Given the description of an element on the screen output the (x, y) to click on. 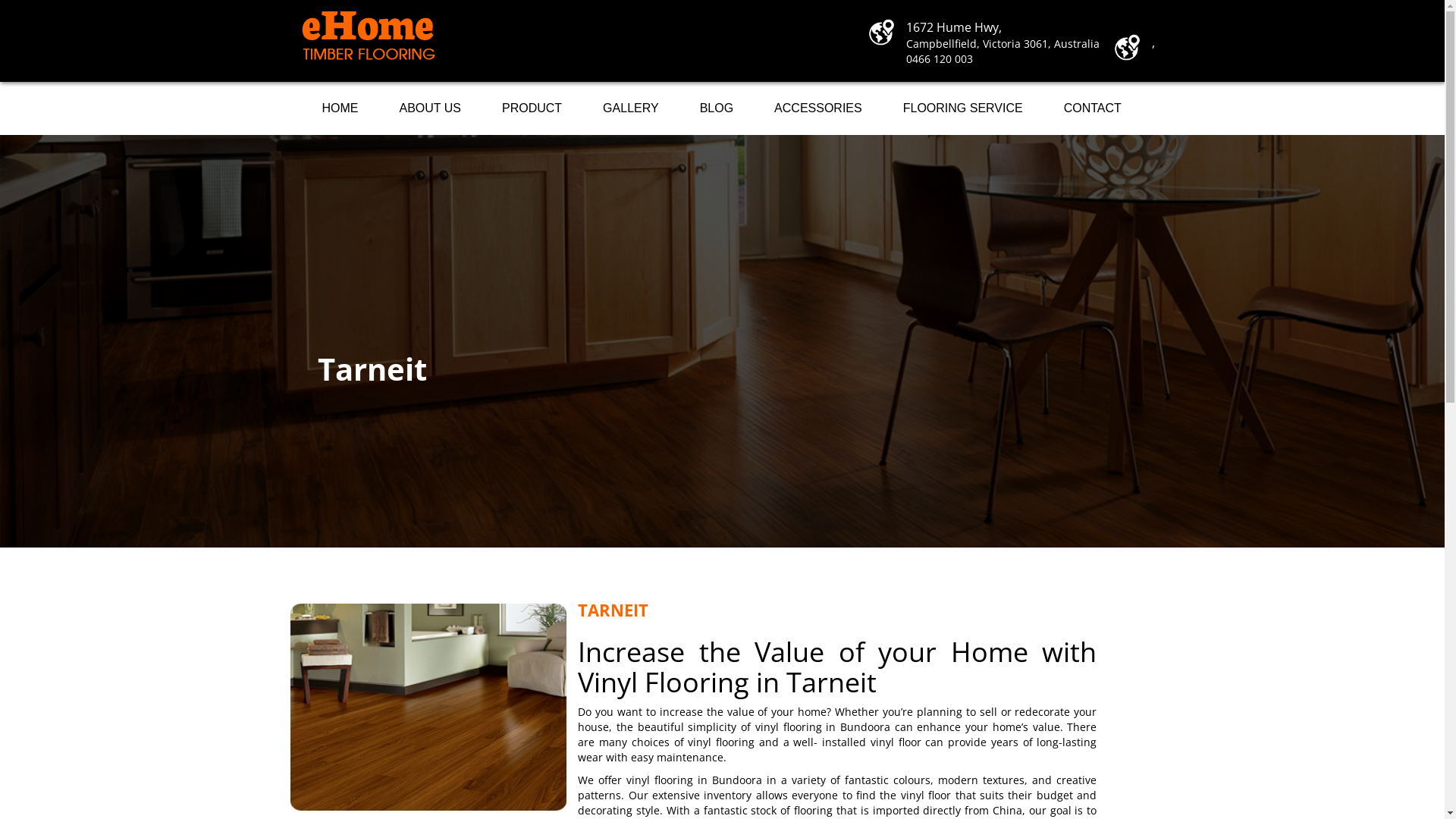
BLOG Element type: text (716, 107)
Ehome Timber Flooring Element type: hover (368, 35)
GALLERY Element type: text (630, 107)
CONTACT Element type: text (1092, 107)
HOME Element type: text (340, 107)
ACCESSORIES Element type: text (817, 107)
PRODUCT Element type: text (531, 107)
ABOUT US Element type: text (430, 107)
0466 120 003 Element type: text (939, 58)
FLOORING SERVICE Element type: text (962, 107)
